Given the description of an element on the screen output the (x, y) to click on. 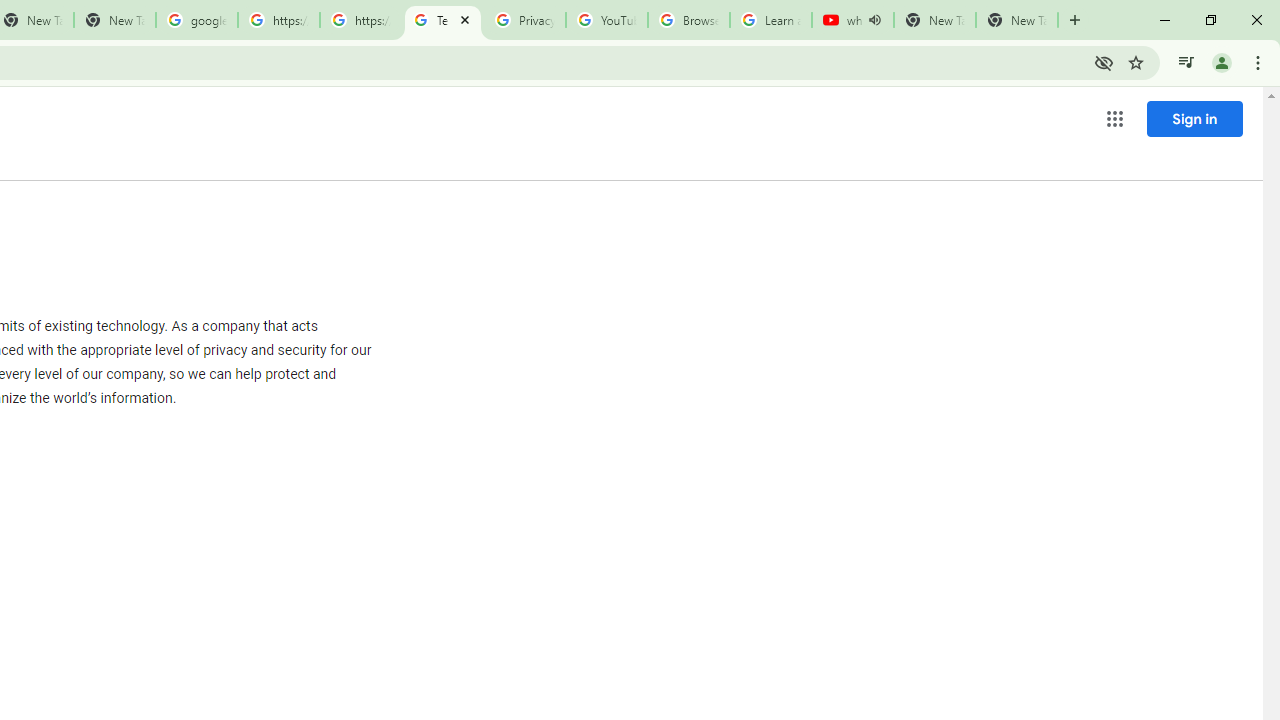
YouTube (606, 20)
https://scholar.google.com/ (360, 20)
New Tab (1016, 20)
https://scholar.google.com/ (278, 20)
Mute tab (874, 20)
